Given the description of an element on the screen output the (x, y) to click on. 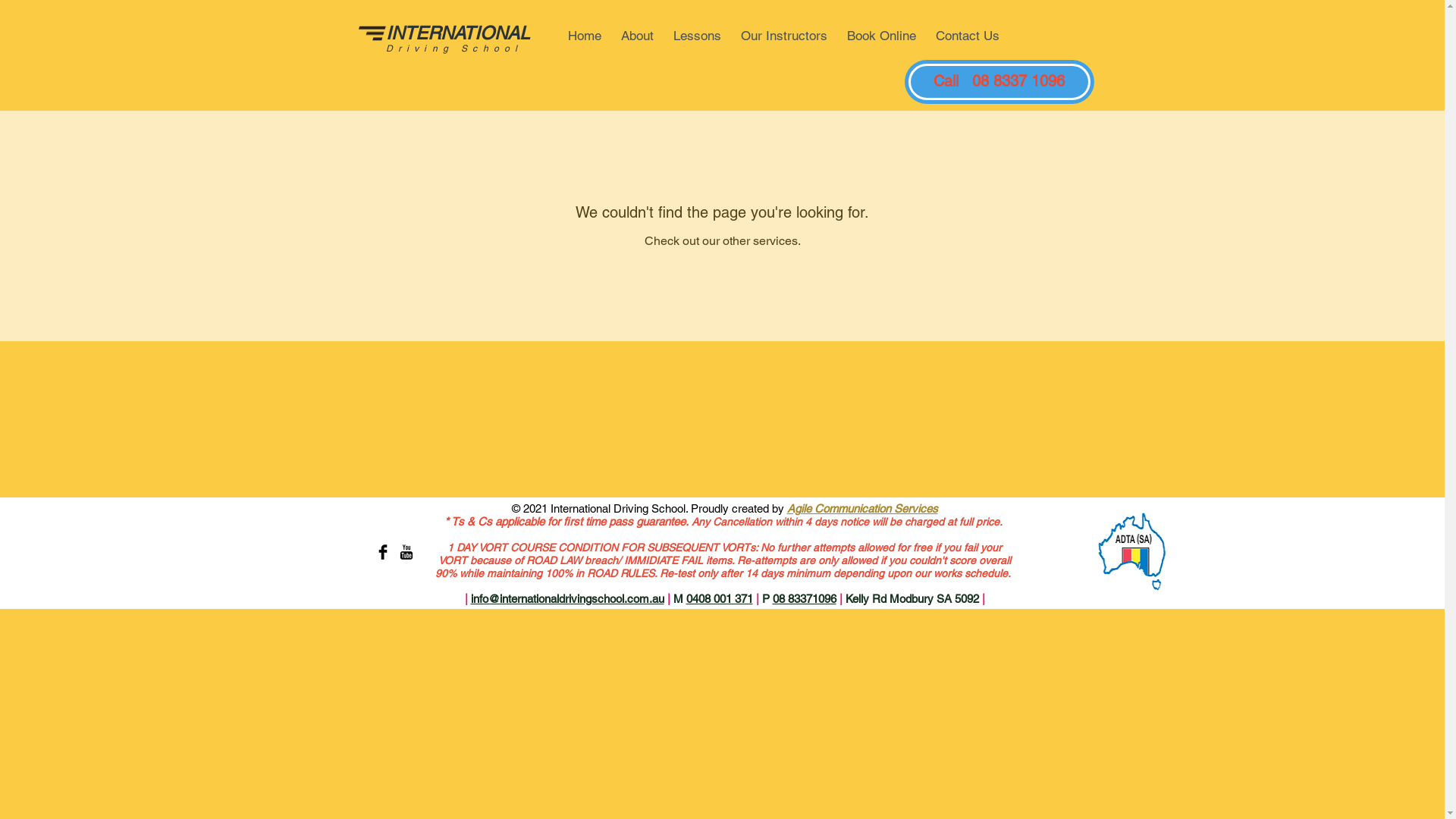
info@internationaldrivingschool.com.au Element type: text (566, 598)
08 83371096 Element type: text (803, 598)
Driving School Element type: text (453, 48)
INTERNATIONAL  Element type: text (459, 32)
Agile Communication Services Element type: text (862, 508)
About Element type: text (637, 35)
Contact Us Element type: text (967, 35)
Our Instructors Element type: text (784, 35)
Book Online Element type: text (881, 35)
Home Element type: text (584, 35)
0408 001 371 Element type: text (718, 598)
Lessons Element type: text (697, 35)
